Given the description of an element on the screen output the (x, y) to click on. 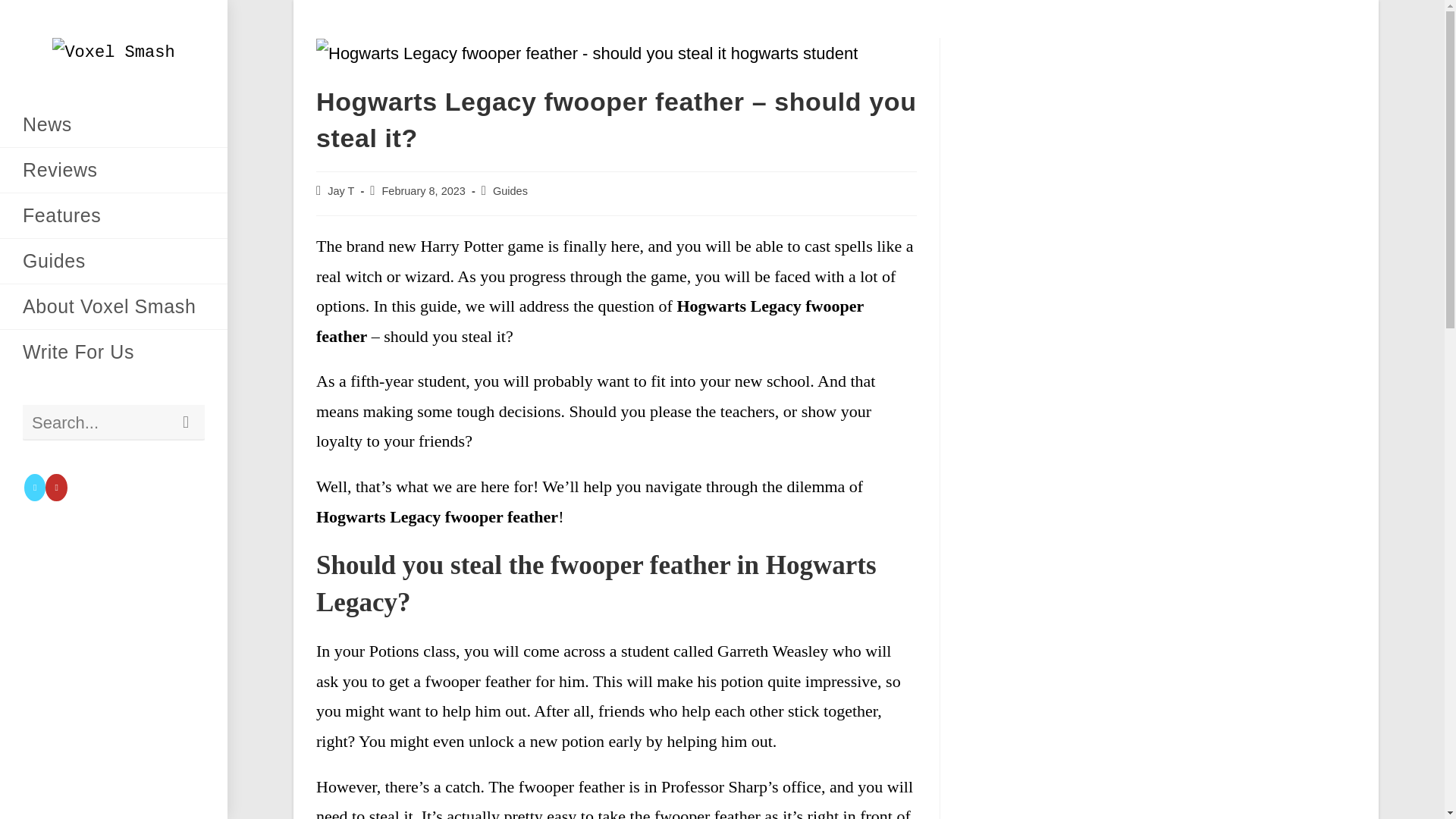
Reviews (113, 170)
Jay T (340, 191)
About Voxel Smash (113, 306)
Features (113, 215)
Posts by Jay T (340, 191)
Guides (113, 261)
Write For Us (113, 352)
Submit search (186, 422)
Guides (510, 191)
News (113, 124)
